Given the description of an element on the screen output the (x, y) to click on. 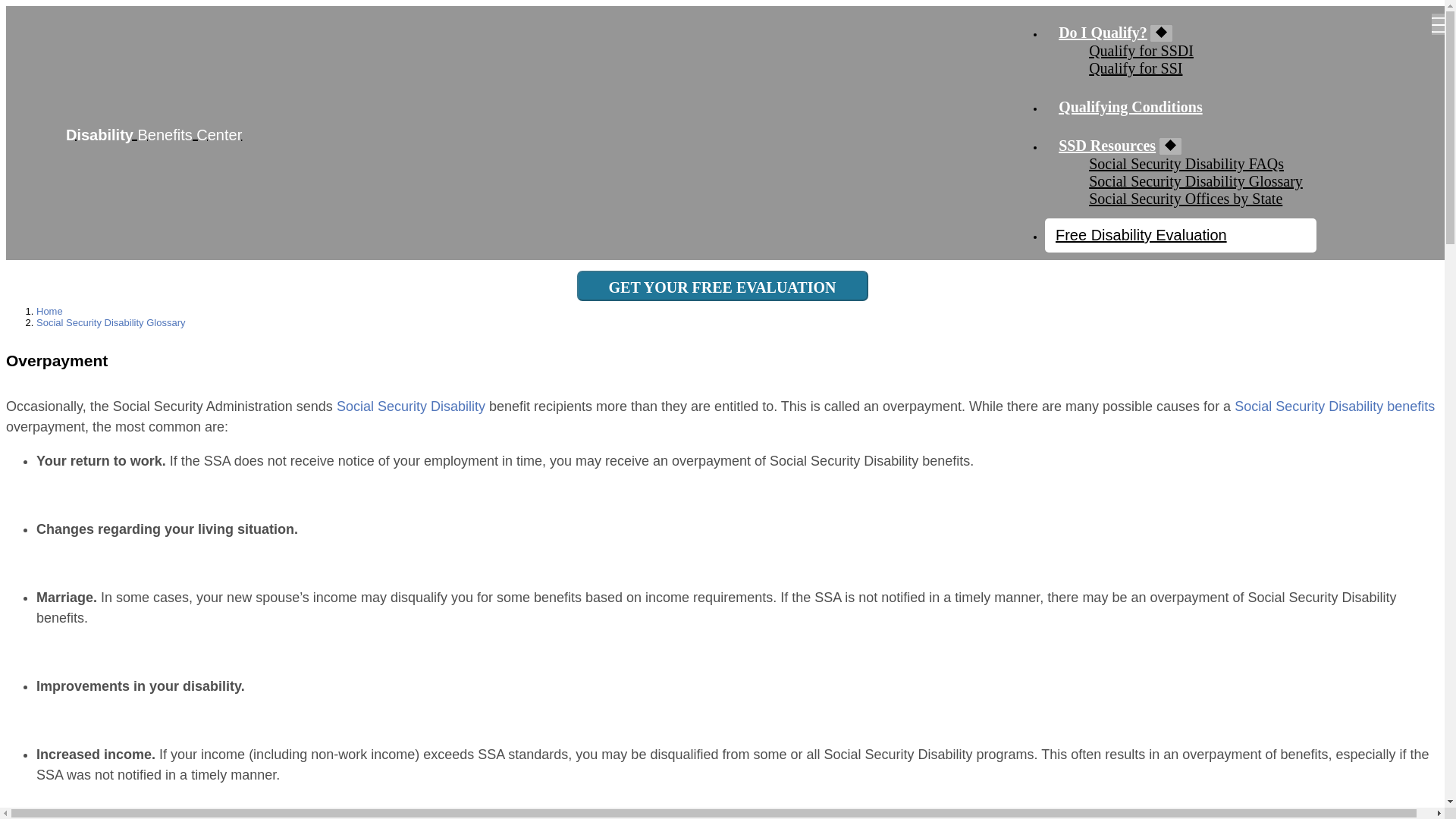
SSD Resources (1107, 145)
Do I Qualify? (1102, 32)
Social Security Disability benefits (1334, 406)
Free Disability Evaluation (1141, 234)
Social Security Disability Glossary (111, 322)
Disability Benefits Center (138, 132)
Social Security Offices by State (1185, 198)
Qualify for SSDI (1141, 50)
Home (138, 132)
Social Security Disability (410, 406)
Home (49, 310)
Social Security Disability Glossary (1196, 180)
GET YOUR FREE EVALUATION (721, 286)
